Given the description of an element on the screen output the (x, y) to click on. 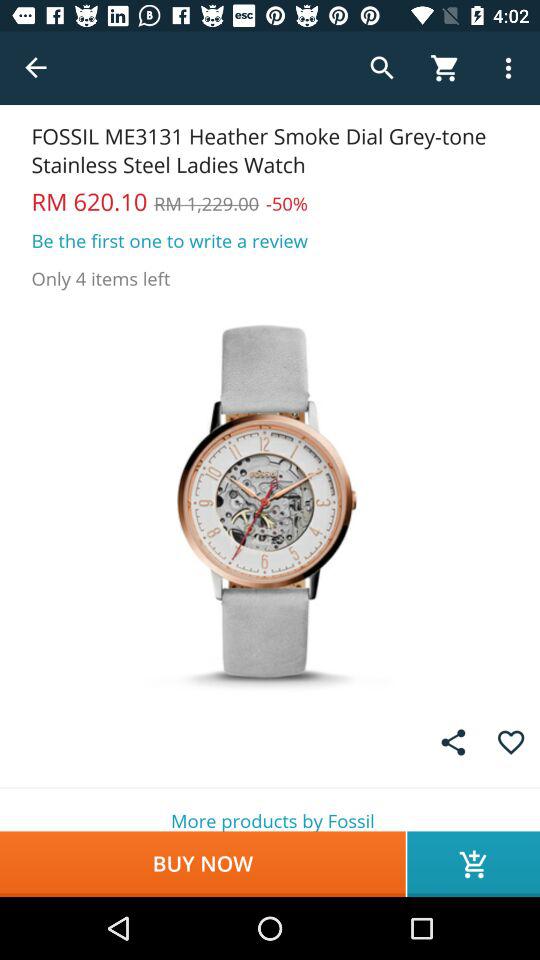
tap the more products by item (270, 809)
